Given the description of an element on the screen output the (x, y) to click on. 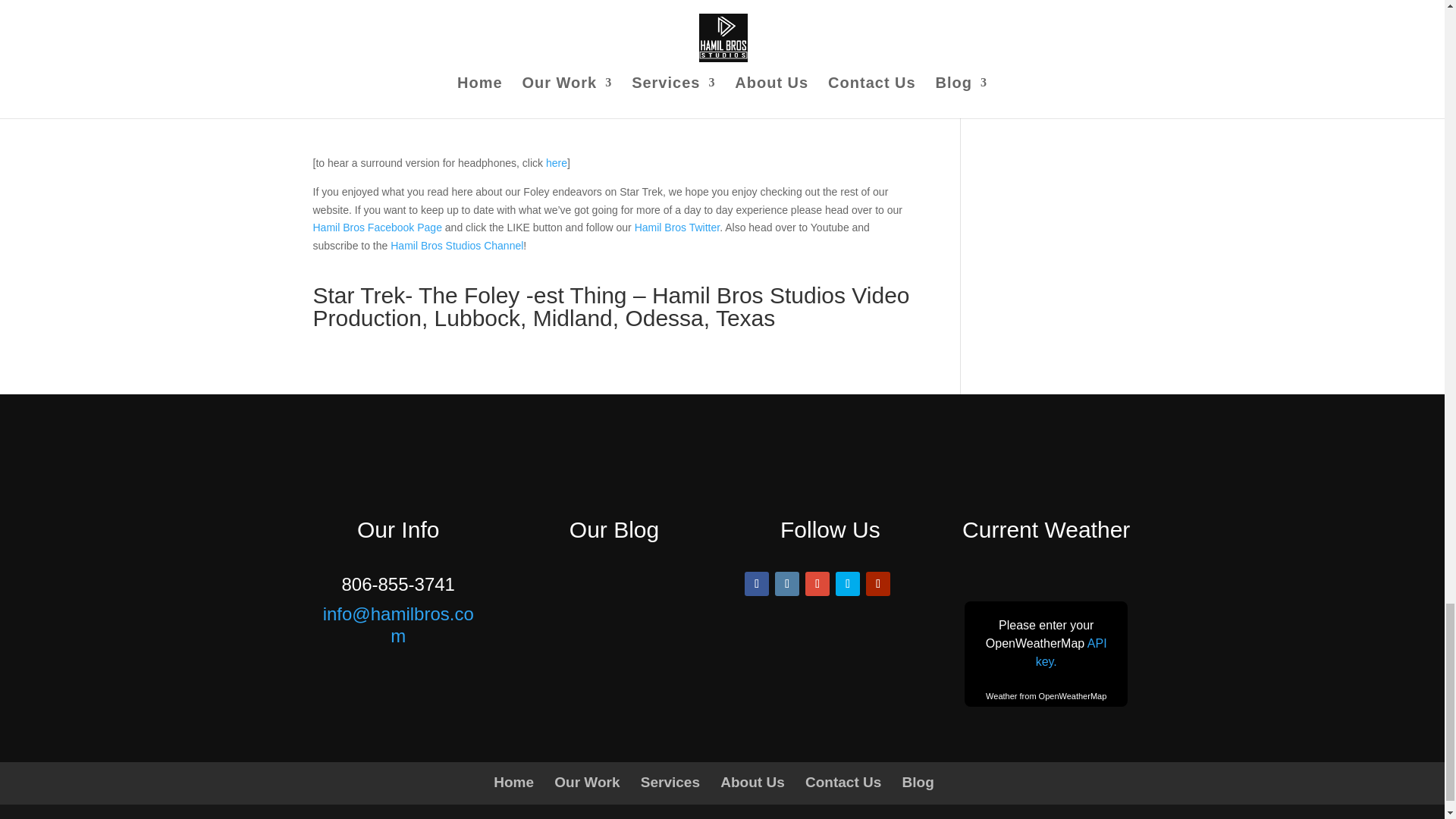
Follow on Instagram (786, 583)
Follow on Twitter (847, 583)
Hamil Bros Facebook Page (377, 227)
Follow on Youtube (877, 583)
here (556, 162)
Follow on Facebook (756, 583)
